Given the description of an element on the screen output the (x, y) to click on. 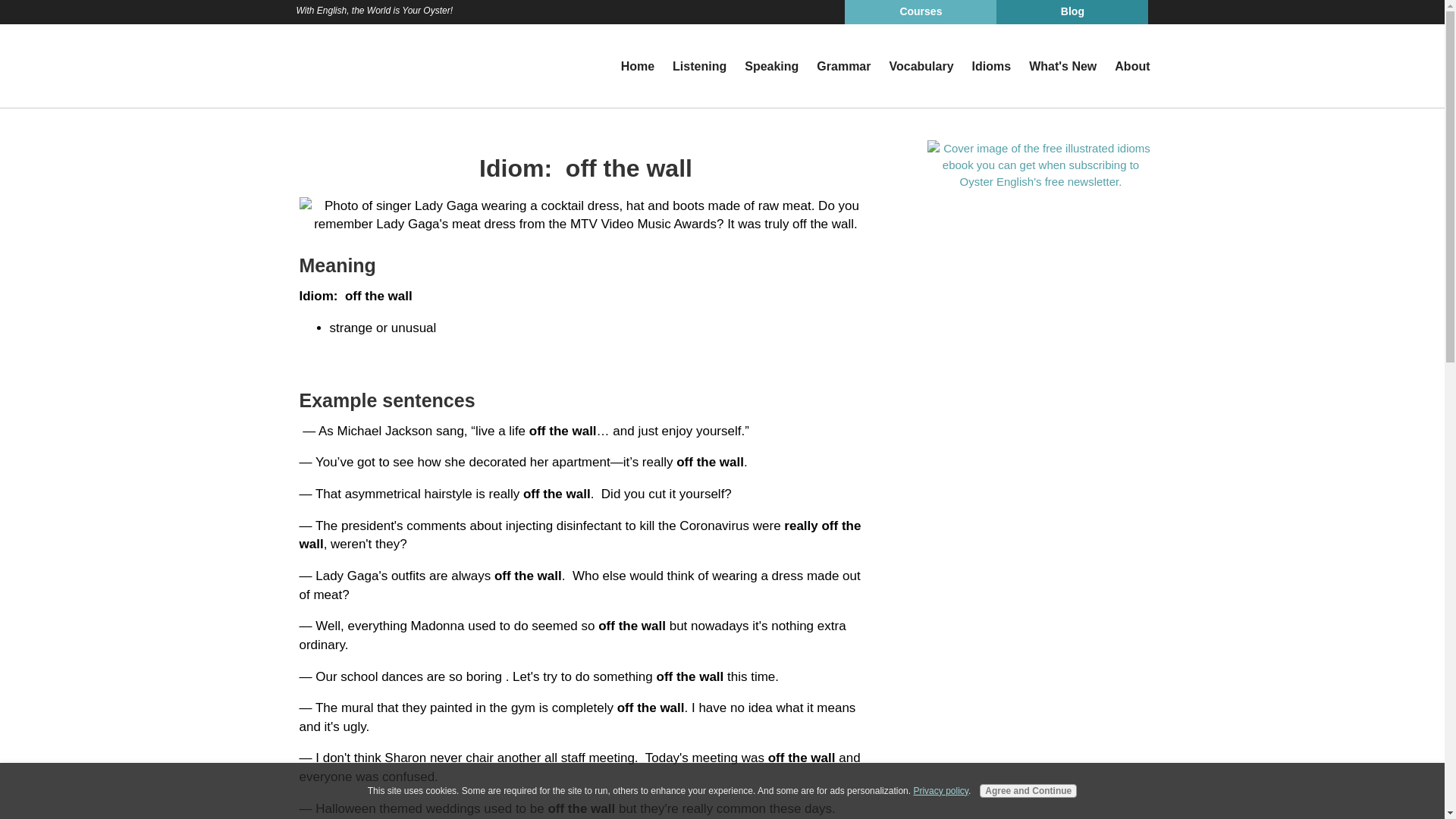
Subscribe to our newsletter (1040, 164)
Courses (919, 12)
What's New (1062, 66)
OYSTERENGLISH.COM (360, 65)
Vocabulary (920, 66)
Blog (1071, 12)
Grammar (843, 66)
Go to Signup and receive a free idioms ebook (1040, 180)
Home (637, 66)
Speaking (771, 66)
